Given the description of an element on the screen output the (x, y) to click on. 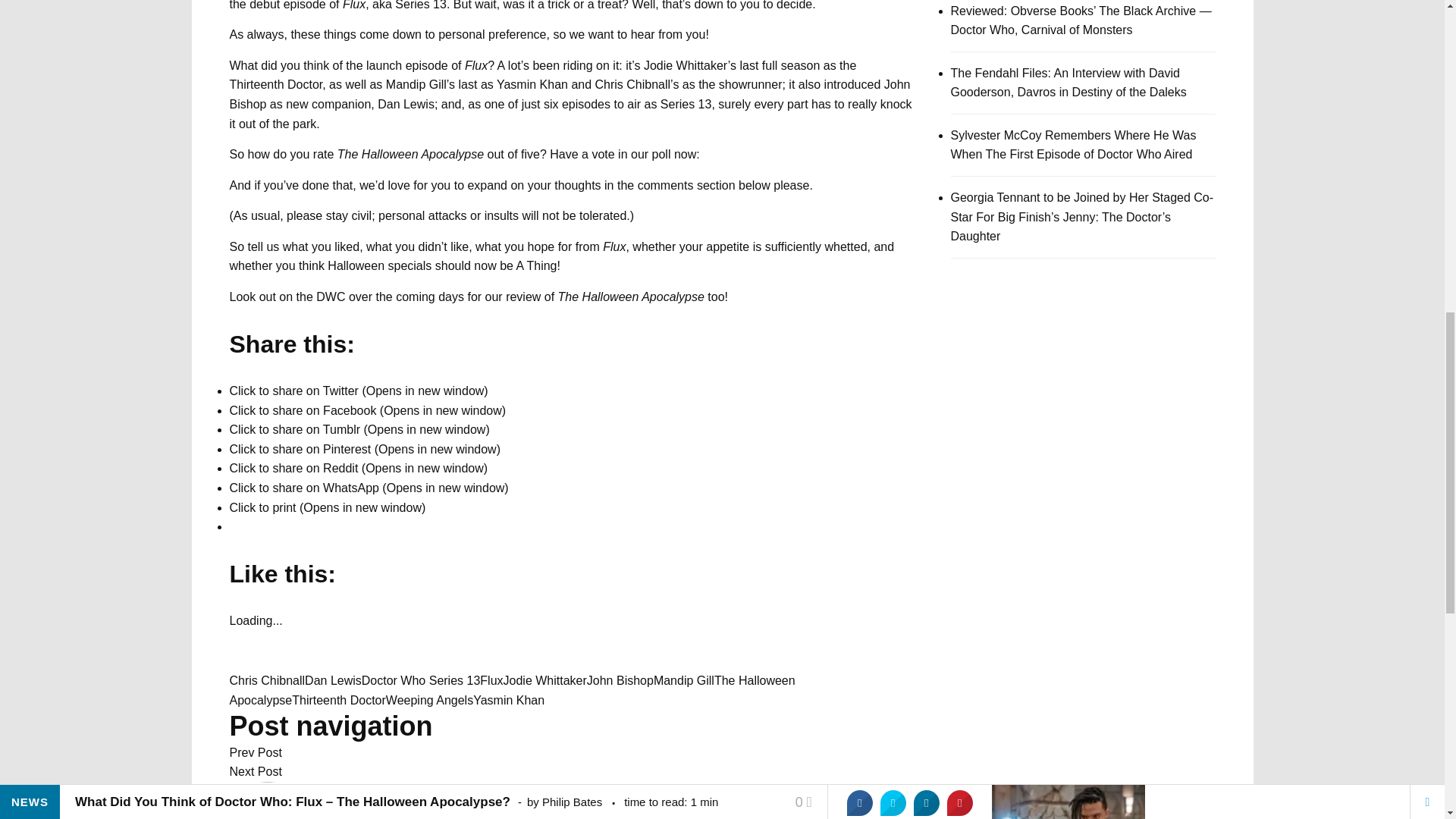
Click to share on WhatsApp (368, 487)
Click to share on Reddit (357, 468)
Click to print (326, 507)
Click to share on Tumblr (358, 429)
Click to share on Facebook (366, 410)
Click to share on Twitter (357, 390)
Click to share on Pinterest (364, 449)
